Given the description of an element on the screen output the (x, y) to click on. 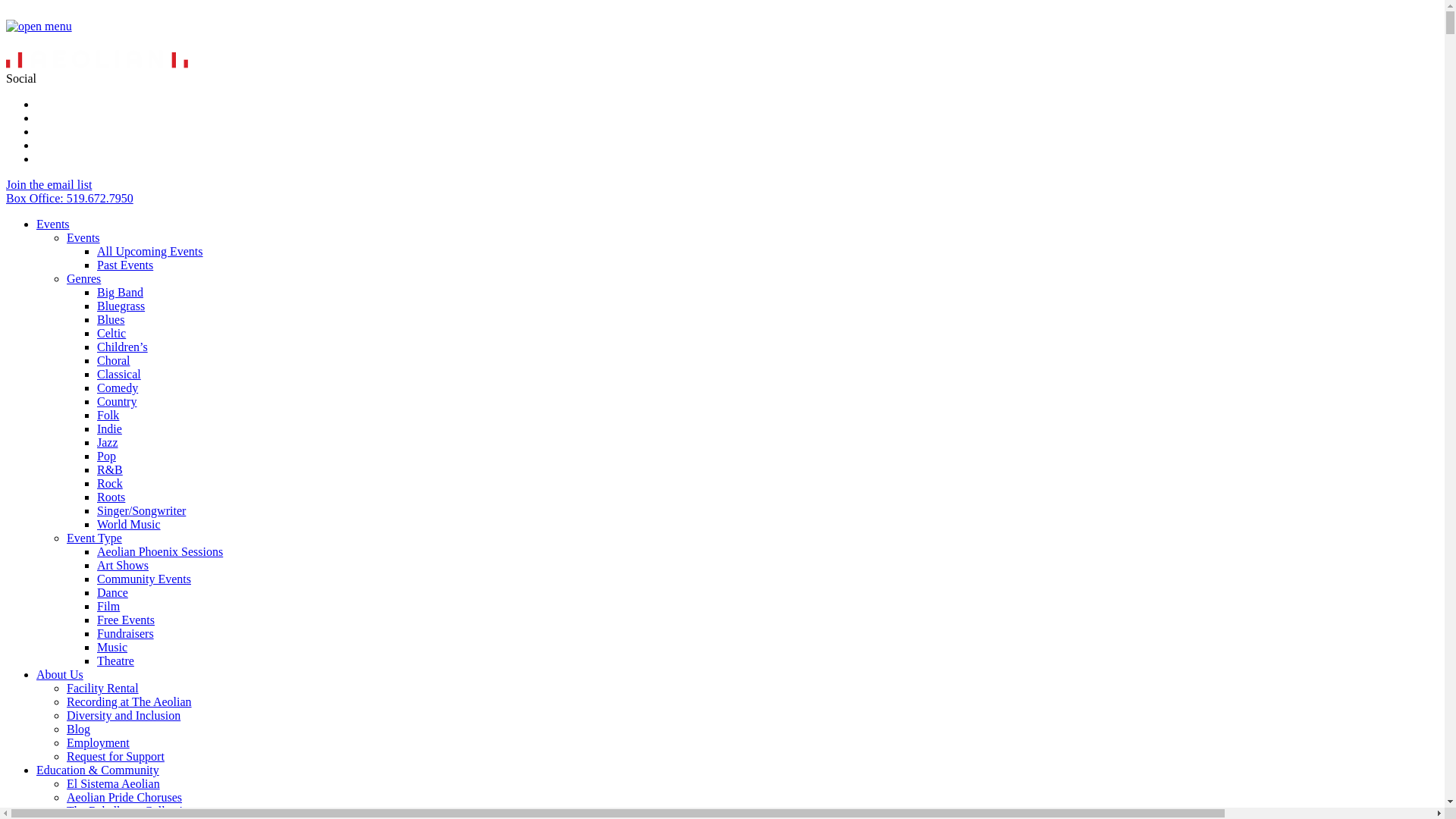
Music Element type: text (112, 646)
Theatre Element type: text (115, 660)
Recording at The Aeolian Element type: text (128, 701)
Film Element type: text (108, 605)
All Upcoming Events Element type: text (150, 250)
El Sistema Aeolian Element type: text (113, 783)
Events Element type: text (83, 237)
Blog Element type: text (78, 728)
Singer/Songwriter Element type: text (141, 510)
Folk Element type: text (108, 414)
Celtic Element type: text (111, 332)
Art Shows Element type: text (122, 564)
Roots Element type: text (111, 496)
Indie Element type: text (109, 428)
Choral Element type: text (113, 360)
Diversity and Inclusion Element type: text (123, 715)
Aeolian Pride Choruses Element type: text (124, 796)
Request for Support Element type: text (115, 755)
Education & Community Element type: text (97, 769)
open menu Element type: hover (39, 26)
Facility Rental Element type: text (102, 687)
Big Band Element type: text (120, 291)
The Rebelheart Collective Element type: text (130, 810)
Free Events Element type: text (125, 619)
Fundraisers Element type: text (125, 633)
Blues Element type: text (110, 319)
Pop Element type: text (106, 455)
Comedy Element type: text (117, 387)
Country Element type: text (116, 401)
Dance Element type: text (112, 592)
Join the email list Element type: text (48, 184)
World Music Element type: text (128, 523)
Rock Element type: text (109, 482)
Aeolian Phoenix Sessions Element type: text (159, 551)
Jazz Element type: text (107, 442)
Genres Element type: text (83, 278)
Box Office: 519.672.7950 Element type: text (69, 197)
Past Events Element type: text (125, 264)
Event Type Element type: text (94, 537)
Classical Element type: text (119, 373)
Events Element type: text (52, 223)
About Us Element type: text (59, 674)
Community Events Element type: text (144, 578)
R&B Element type: text (109, 469)
Bluegrass Element type: text (120, 305)
Employment Element type: text (97, 742)
